Given the description of an element on the screen output the (x, y) to click on. 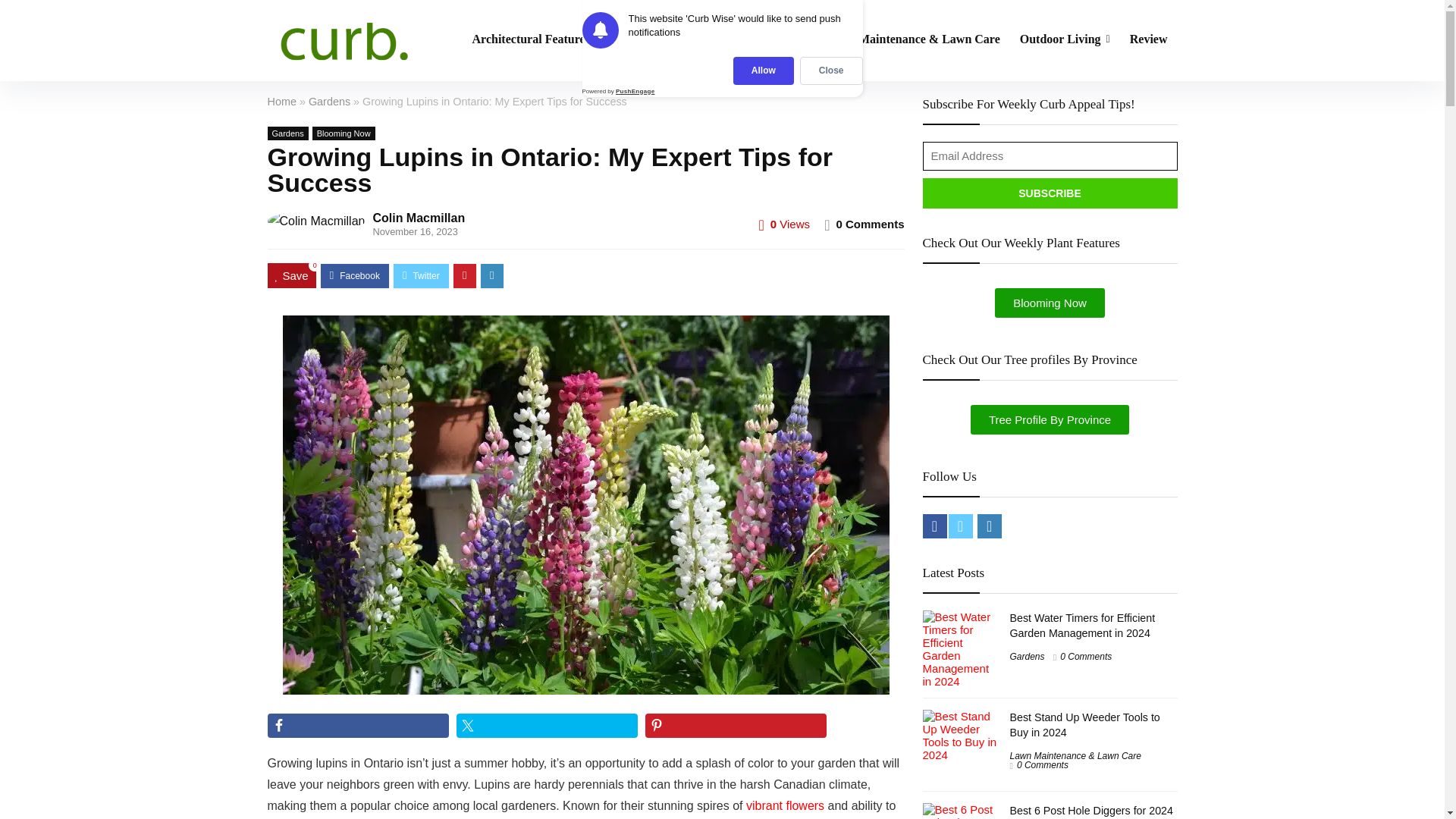
Outdoor Living (1064, 39)
View all posts in Gardens (286, 133)
Share on Twitter (547, 725)
Architectural Features (535, 39)
Share on Pinterest (736, 725)
Gardens (645, 39)
View all posts in Blooming Now (344, 133)
Home Improvement (748, 39)
Subscribe (1048, 193)
Share on Facebook (357, 725)
